Given the description of an element on the screen output the (x, y) to click on. 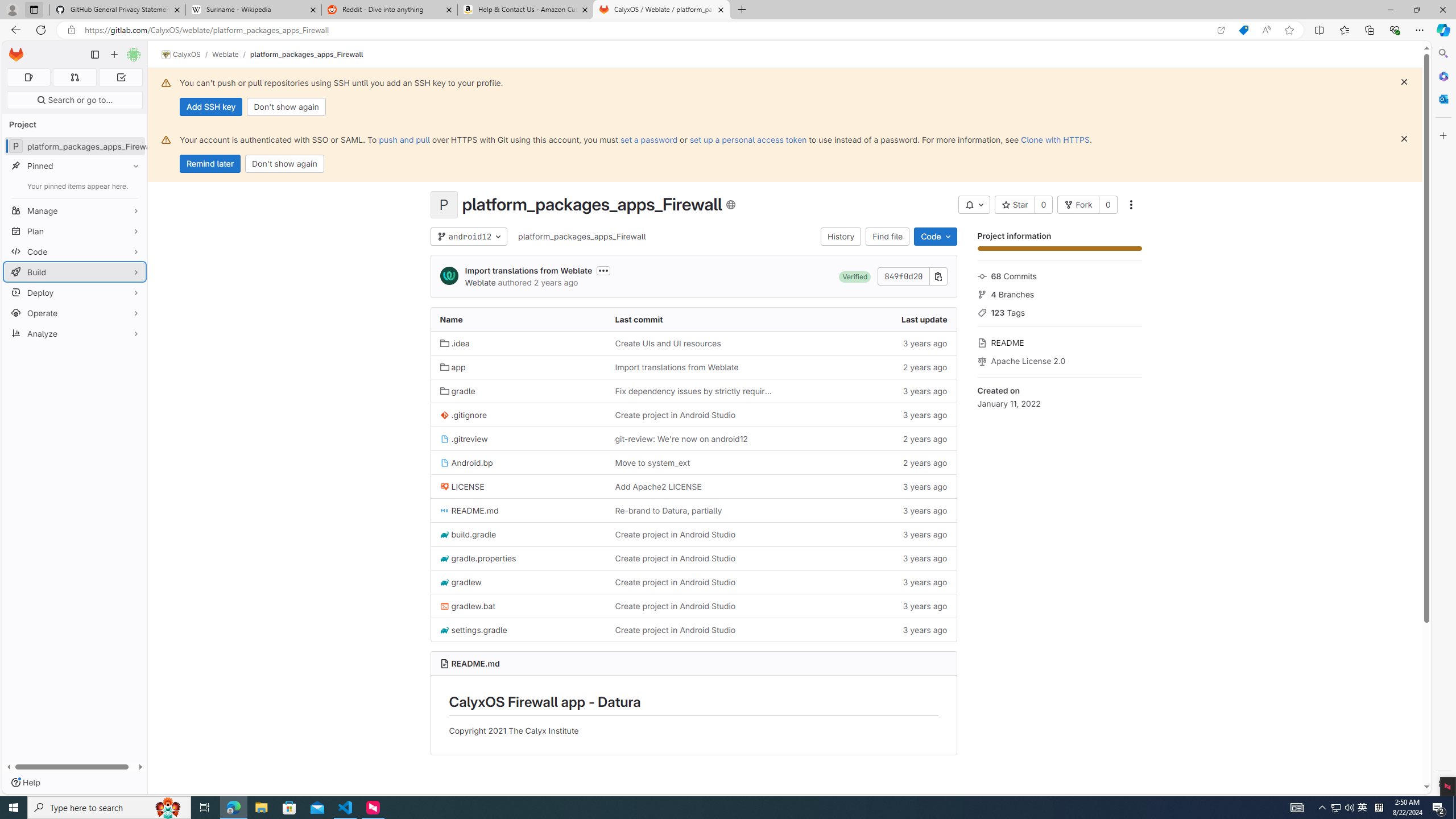
gradle.properties (477, 558)
Build (74, 271)
Move to system_ext (652, 462)
build.gradle (517, 534)
Assigned issues 0 (28, 76)
.idea (454, 342)
set up a personal access token (747, 139)
android12 (468, 236)
123 Tags (1058, 311)
app (517, 366)
set a password (649, 139)
